Given the description of an element on the screen output the (x, y) to click on. 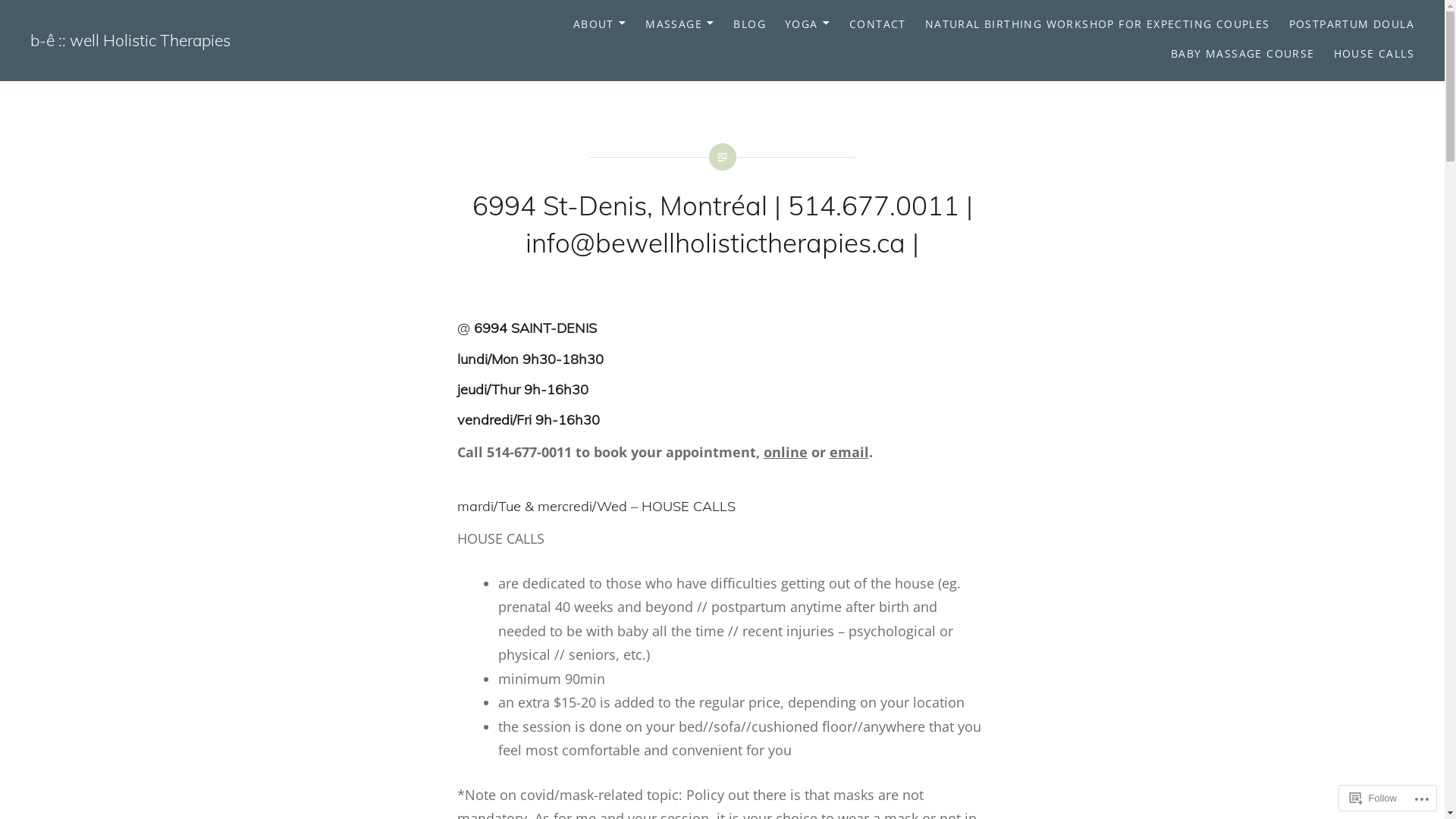
BLOG Element type: text (749, 24)
Follow Element type: text (1372, 797)
online Element type: text (784, 451)
ABOUT Element type: text (599, 24)
NATURAL BIRTHING WORKSHOP FOR EXPECTING COUPLES Element type: text (1097, 24)
CONTACT Element type: text (877, 24)
BABY MASSAGE COURSE Element type: text (1242, 53)
POSTPARTUM DOULA Element type: text (1351, 24)
MASSAGE Element type: text (679, 24)
email Element type: text (849, 451)
HOUSE CALLS Element type: text (1373, 53)
YOGA Element type: text (807, 24)
